Given the description of an element on the screen output the (x, y) to click on. 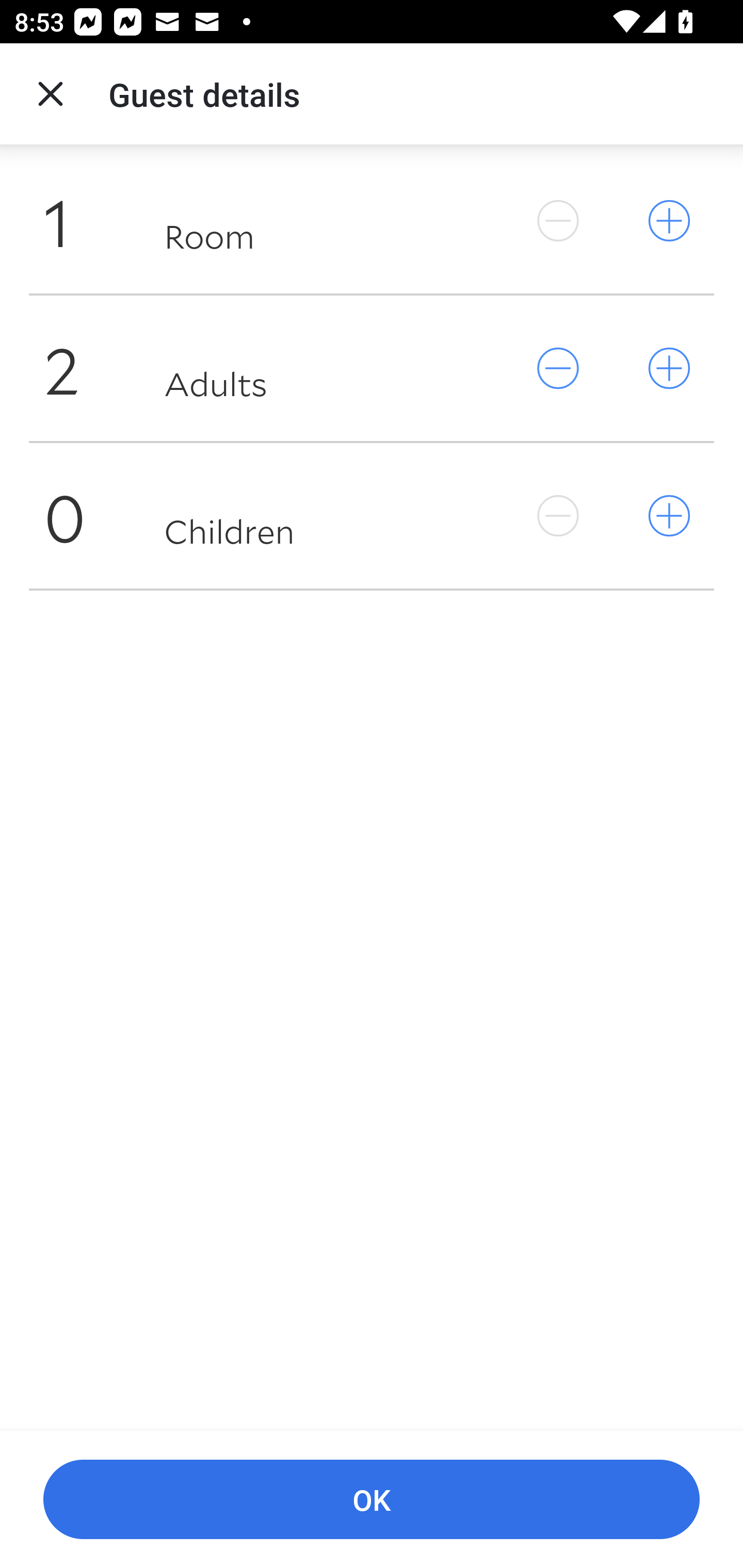
OK (371, 1499)
